Given the description of an element on the screen output the (x, y) to click on. 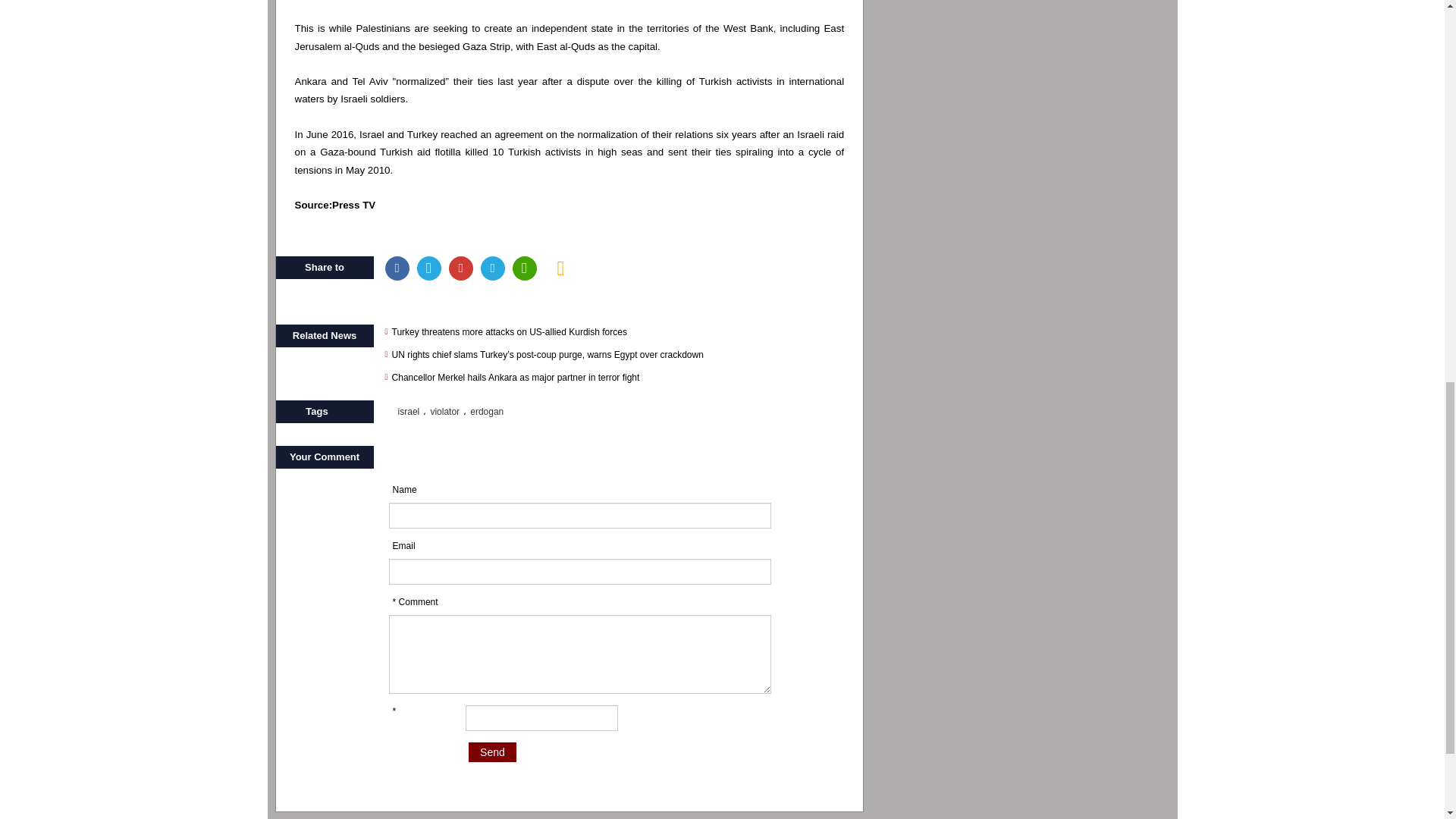
Turkey threatens more attacks on US-allied Kurdish forces (618, 331)
Send (492, 752)
news error report (560, 268)
